Given the description of an element on the screen output the (x, y) to click on. 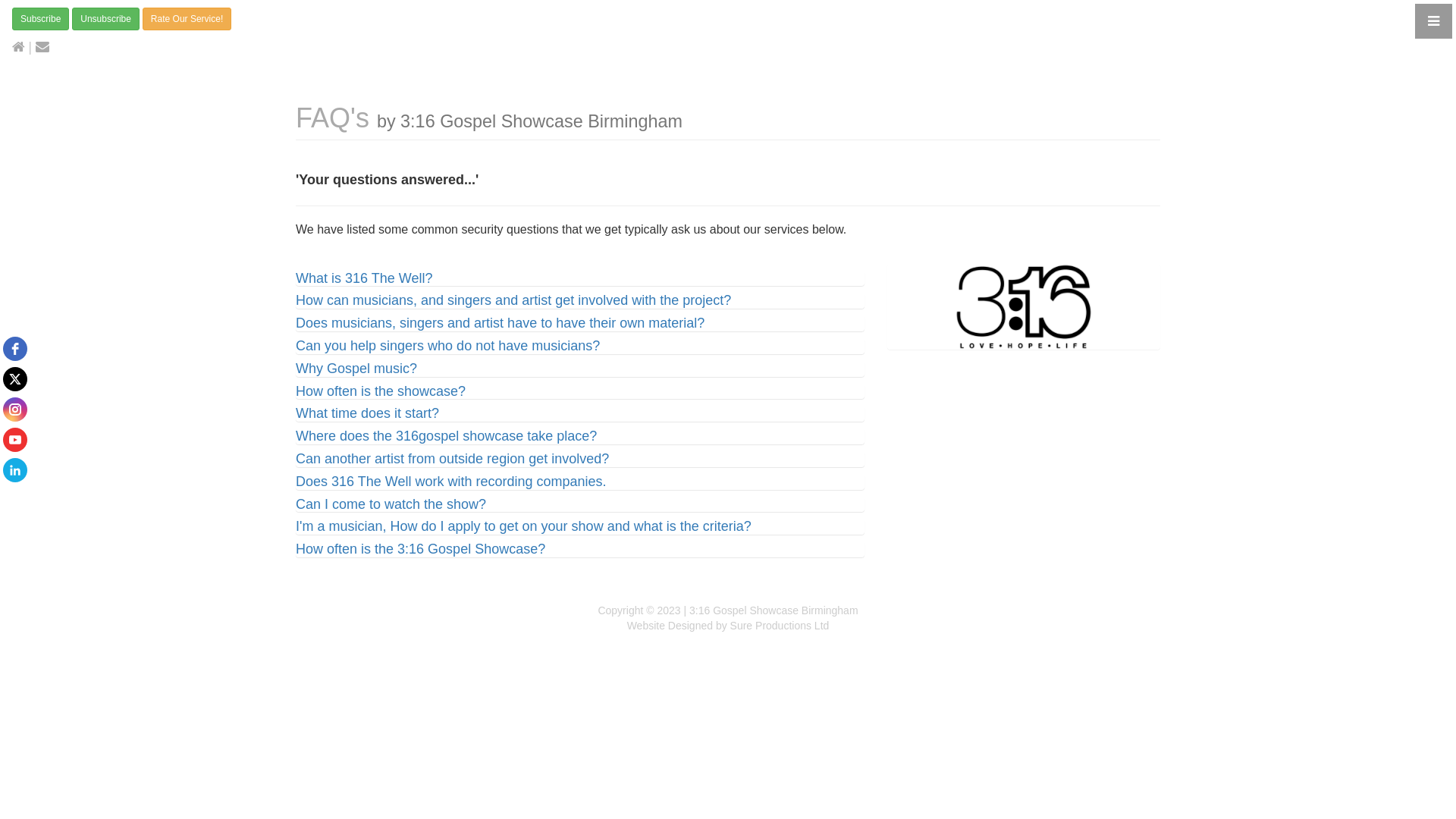
Rate Our Service! Element type: text (186, 18)
What is 316 The Well? Element type: text (363, 277)
Can you help singers who do not have musicians? Element type: text (447, 345)
Does 316 The Well work with recording companies. Element type: text (450, 481)
Where does the 316gospel showcase take place? Element type: text (445, 435)
Subscribe Element type: text (40, 18)
Facebook Element type: hover (15, 348)
LinkedIn Element type: hover (15, 470)
About Us | 3:16 Gospel Showcase Birmingham Element type: hover (1023, 306)
Can another artist from outside region get involved? Element type: text (451, 458)
| Element type: text (21, 46)
Instagram Element type: hover (15, 409)
Can I come to watch the show? Element type: text (390, 503)
Website Designed by Sure Productions Ltd Element type: text (728, 625)
Twitter Element type: hover (15, 379)
What time does it start? Element type: text (367, 412)
YouTube Element type: hover (15, 439)
How often is the 3:16 Gospel Showcase? Element type: text (420, 548)
How often is the showcase? Element type: text (380, 390)
Why Gospel music? Element type: text (356, 368)
Unsubscribe Element type: text (105, 18)
